Given the description of an element on the screen output the (x, y) to click on. 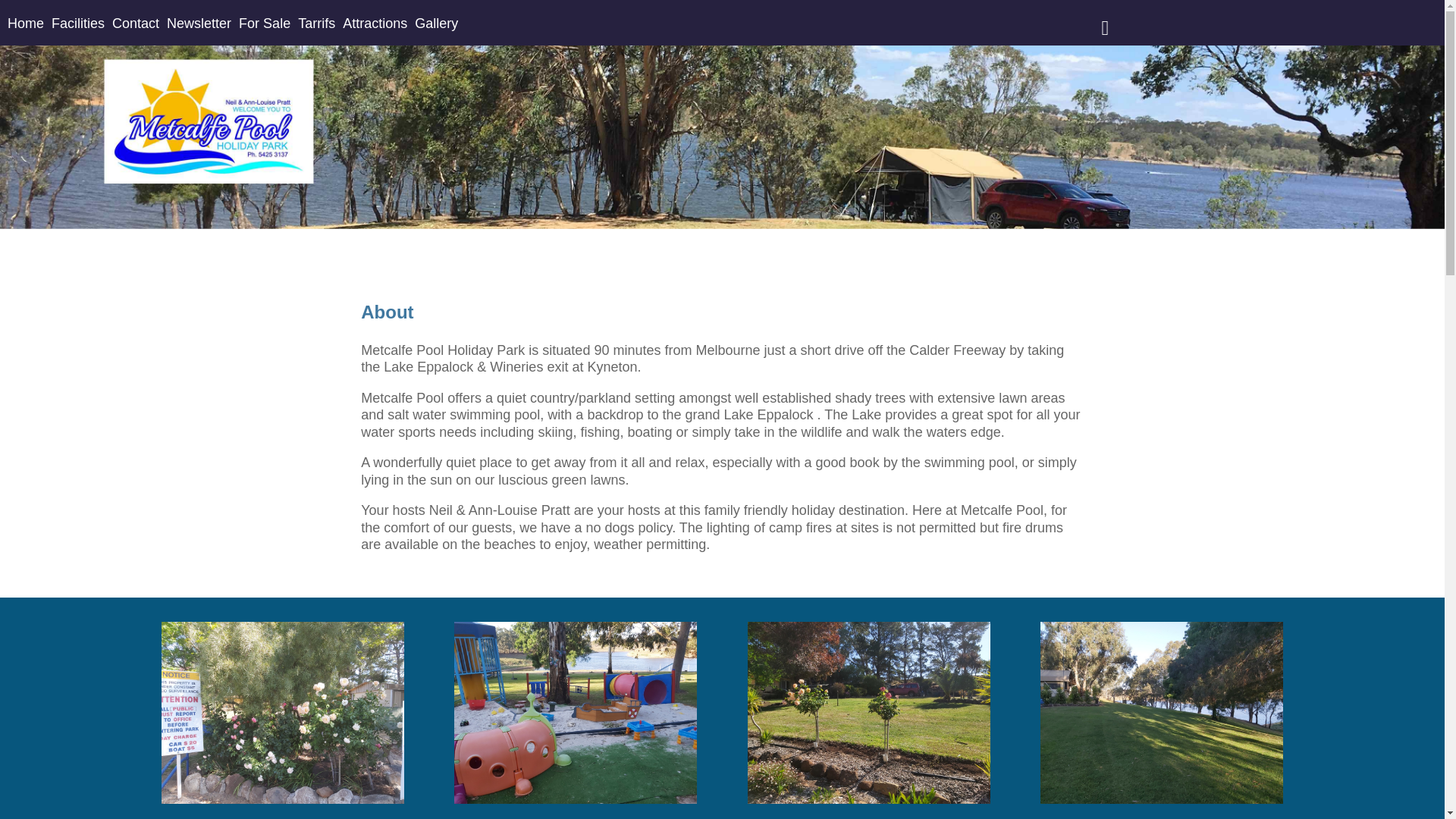
For Sale Element type: text (264, 23)
Facilities Element type: text (77, 23)
Home Element type: text (25, 23)
Contact Element type: text (135, 23)
Tarrifs Element type: text (316, 23)
Newsletter Element type: text (198, 23)
Gallery Element type: text (436, 23)
Attractions Element type: text (374, 23)
